Given the description of an element on the screen output the (x, y) to click on. 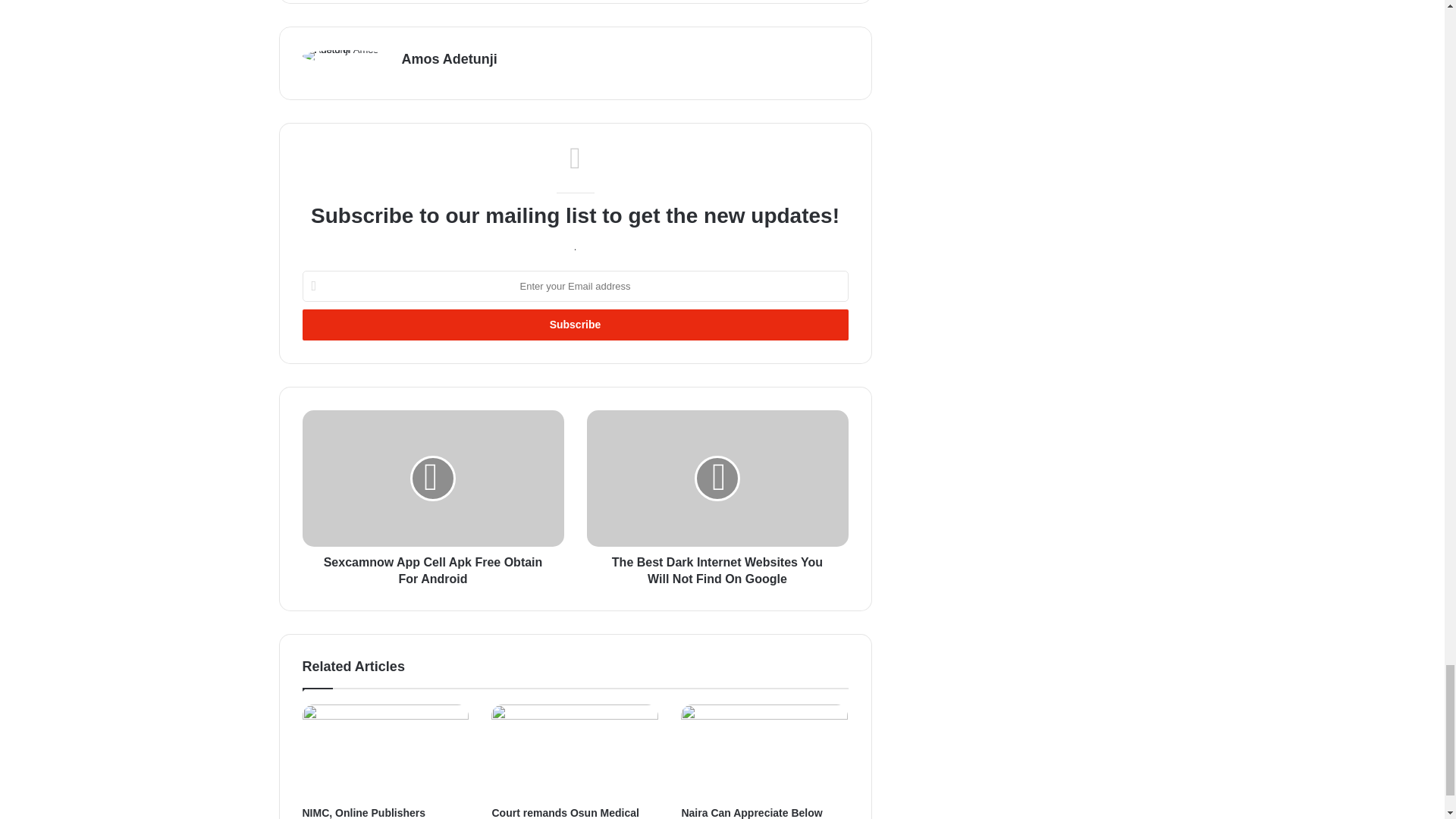
Subscribe (574, 324)
